Given the description of an element on the screen output the (x, y) to click on. 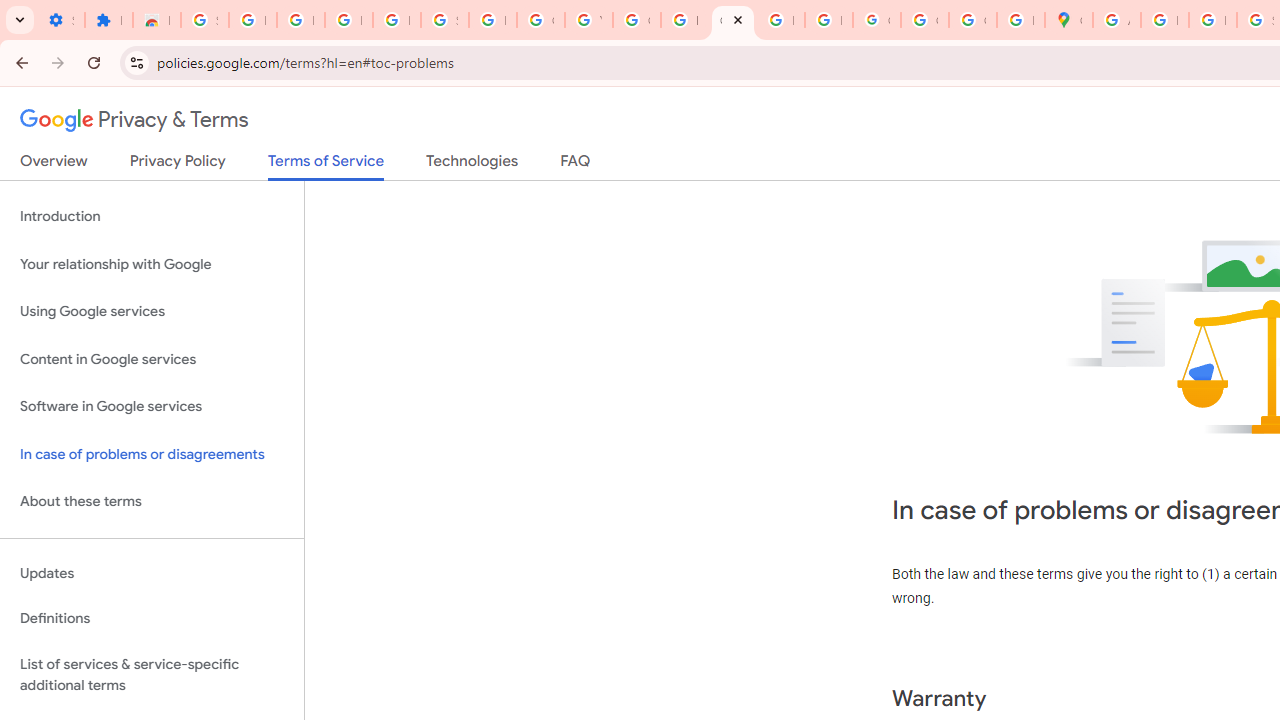
In case of problems or disagreements (152, 453)
Content in Google services (152, 358)
Settings - On startup (60, 20)
Sign in - Google Accounts (204, 20)
About these terms (152, 502)
Google Maps (1068, 20)
